Given the description of an element on the screen output the (x, y) to click on. 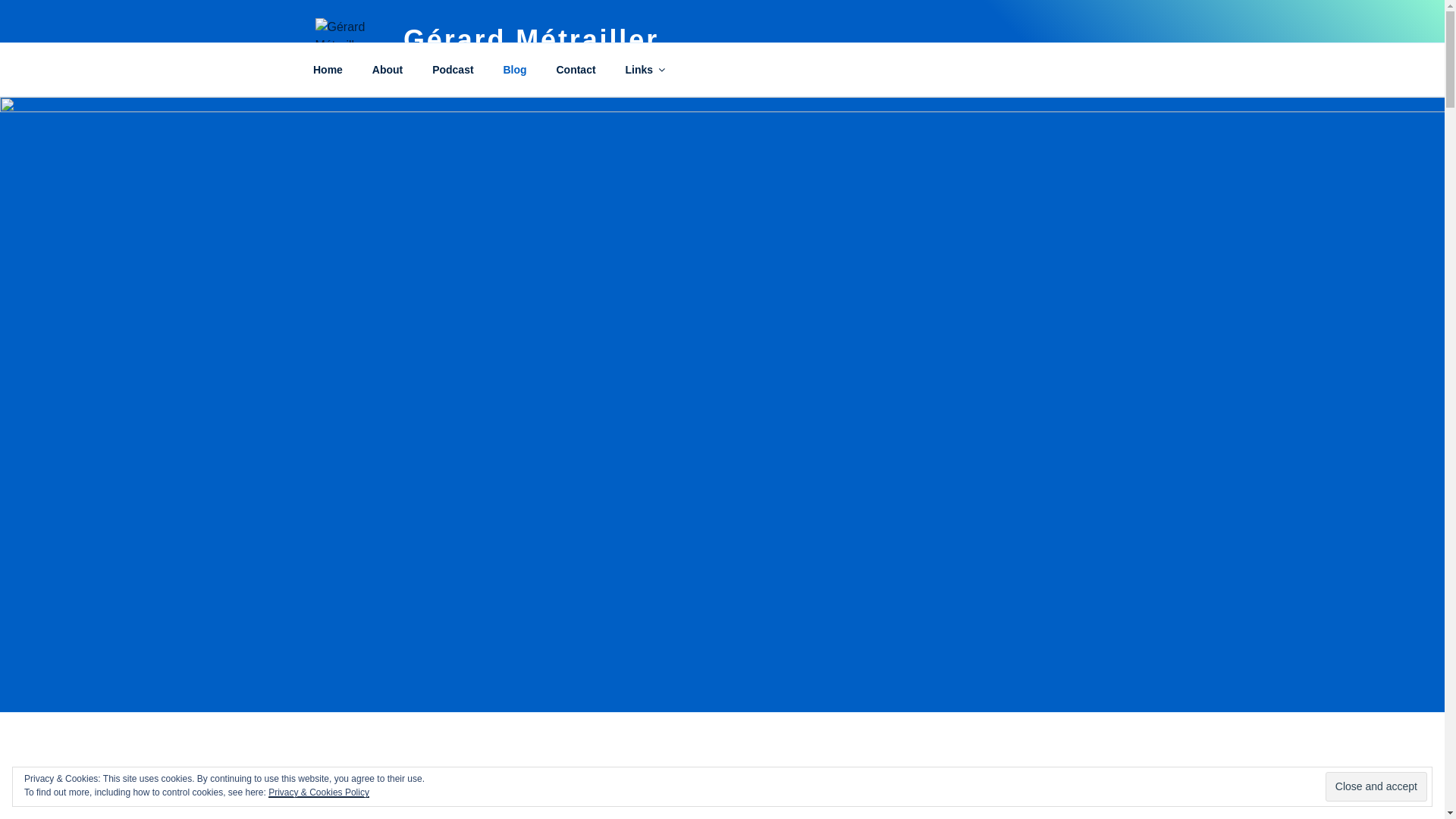
Blog (514, 69)
About (386, 69)
Contact (575, 69)
Links (644, 69)
Home (327, 69)
Podcast (452, 69)
Close and accept (1375, 786)
